Given the description of an element on the screen output the (x, y) to click on. 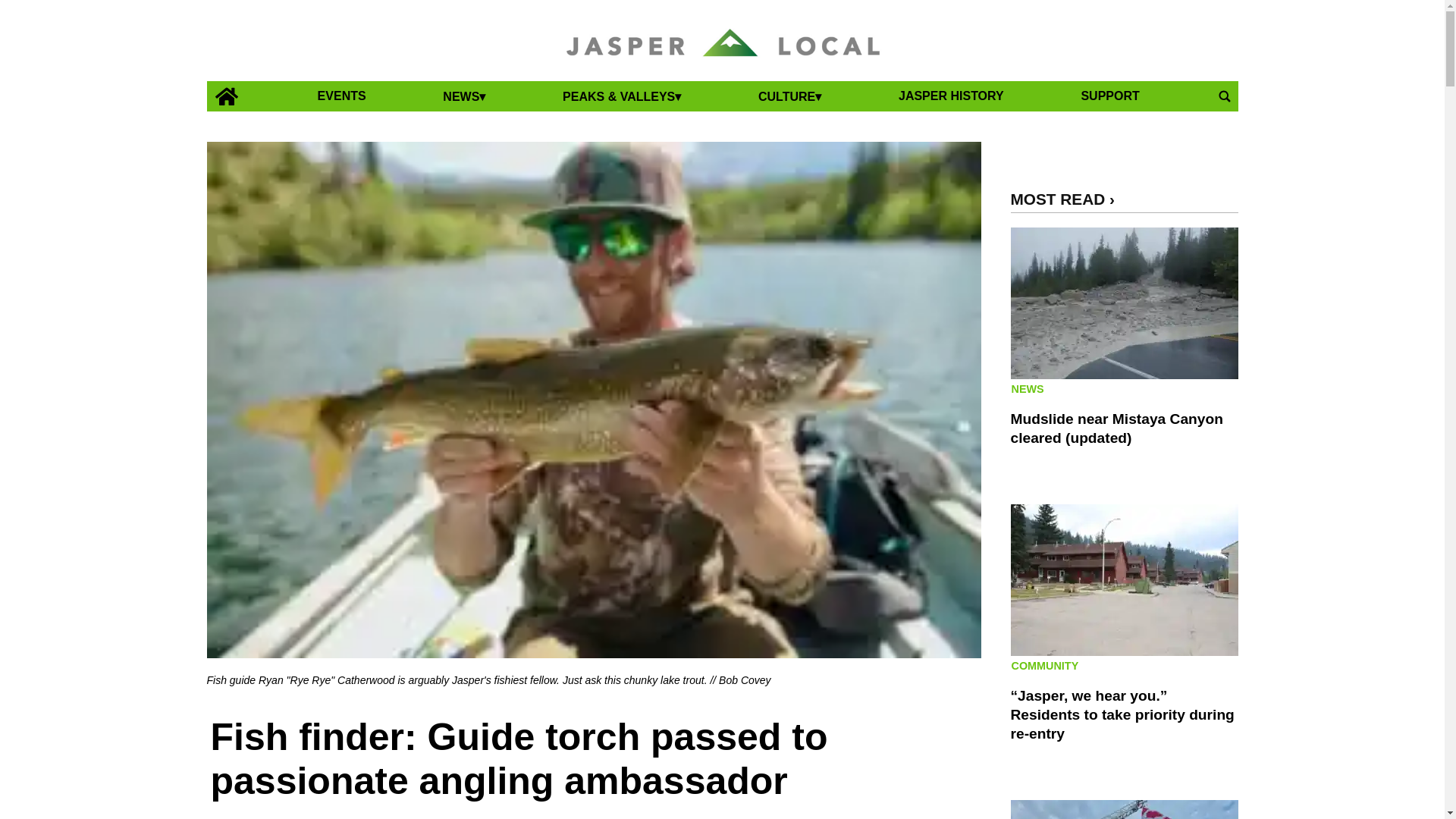
CULTURE (789, 96)
EVENTS (341, 96)
NEWS (464, 96)
